Given the description of an element on the screen output the (x, y) to click on. 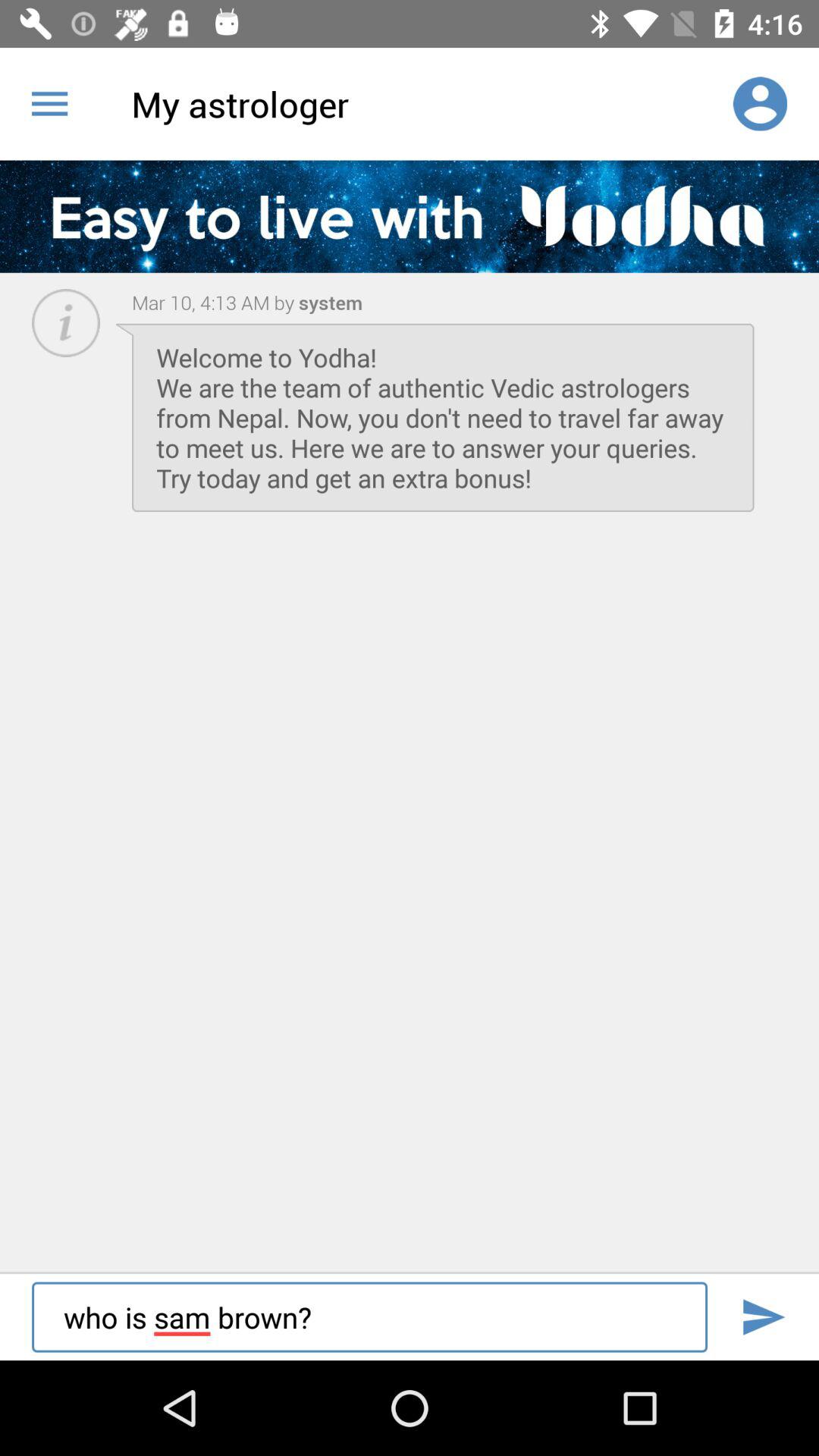
tap mar 10 4 (212, 302)
